Given the description of an element on the screen output the (x, y) to click on. 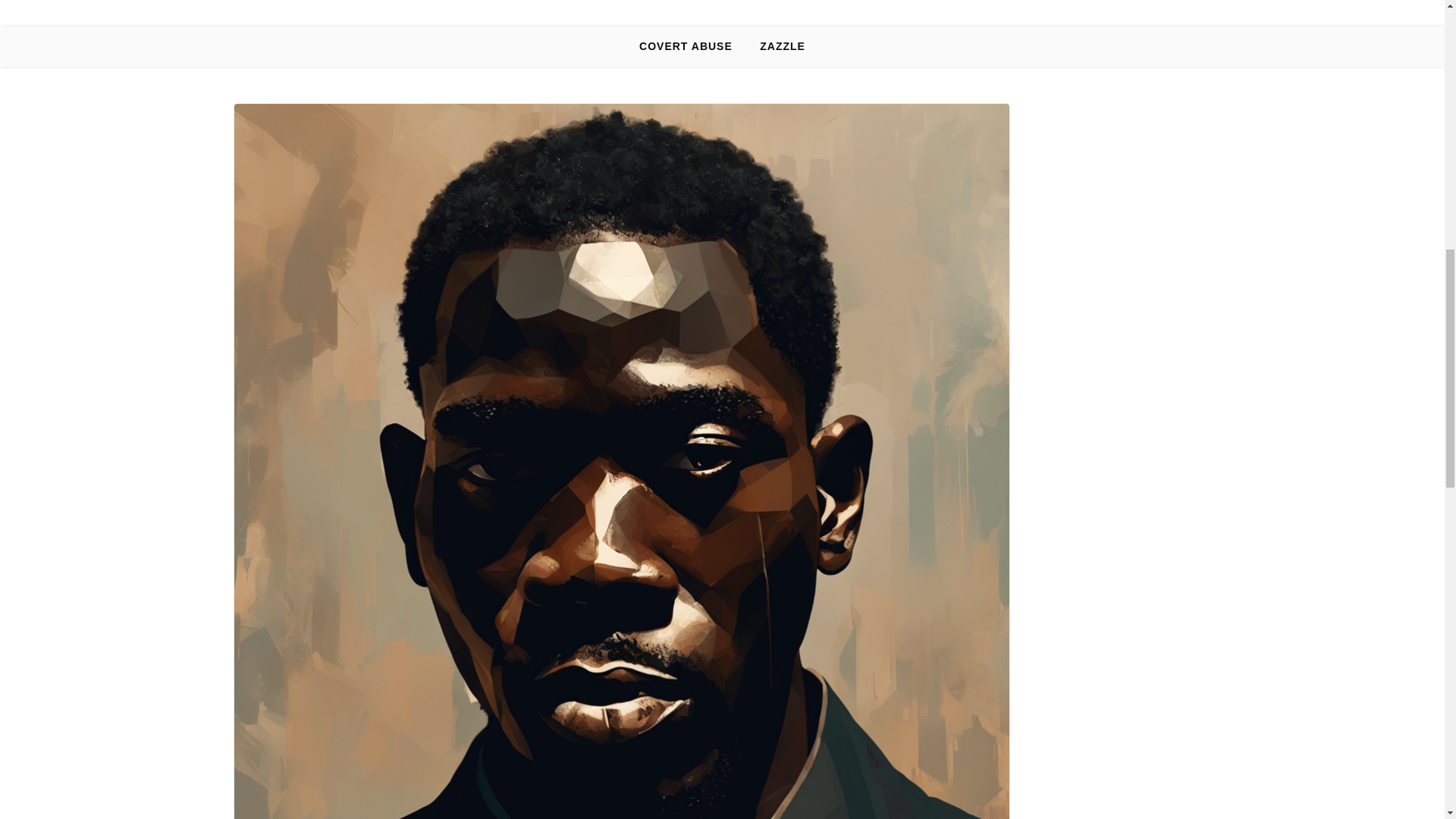
ZAZZLE (782, 46)
COVERT ABUSE (685, 46)
